Given the description of an element on the screen output the (x, y) to click on. 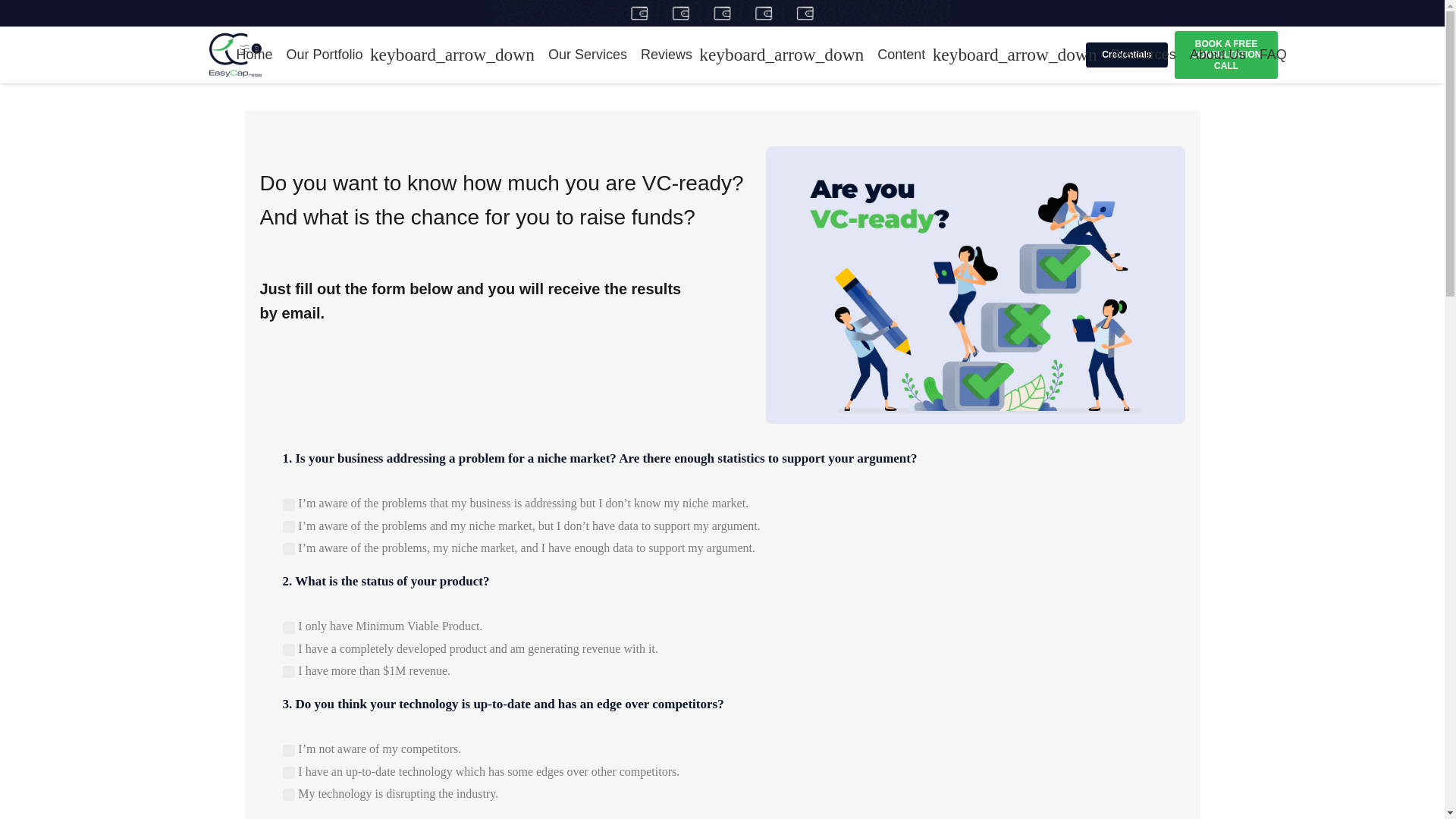
Reviews (751, 54)
Credentials (1127, 54)
Our Portfolio (410, 54)
quiz 01 1 (975, 285)
Resources (1142, 54)
About Us (1217, 54)
Our Services (587, 54)
BOOK A FREE CONSULTATION CALL (1226, 54)
Content (986, 54)
